Given the description of an element on the screen output the (x, y) to click on. 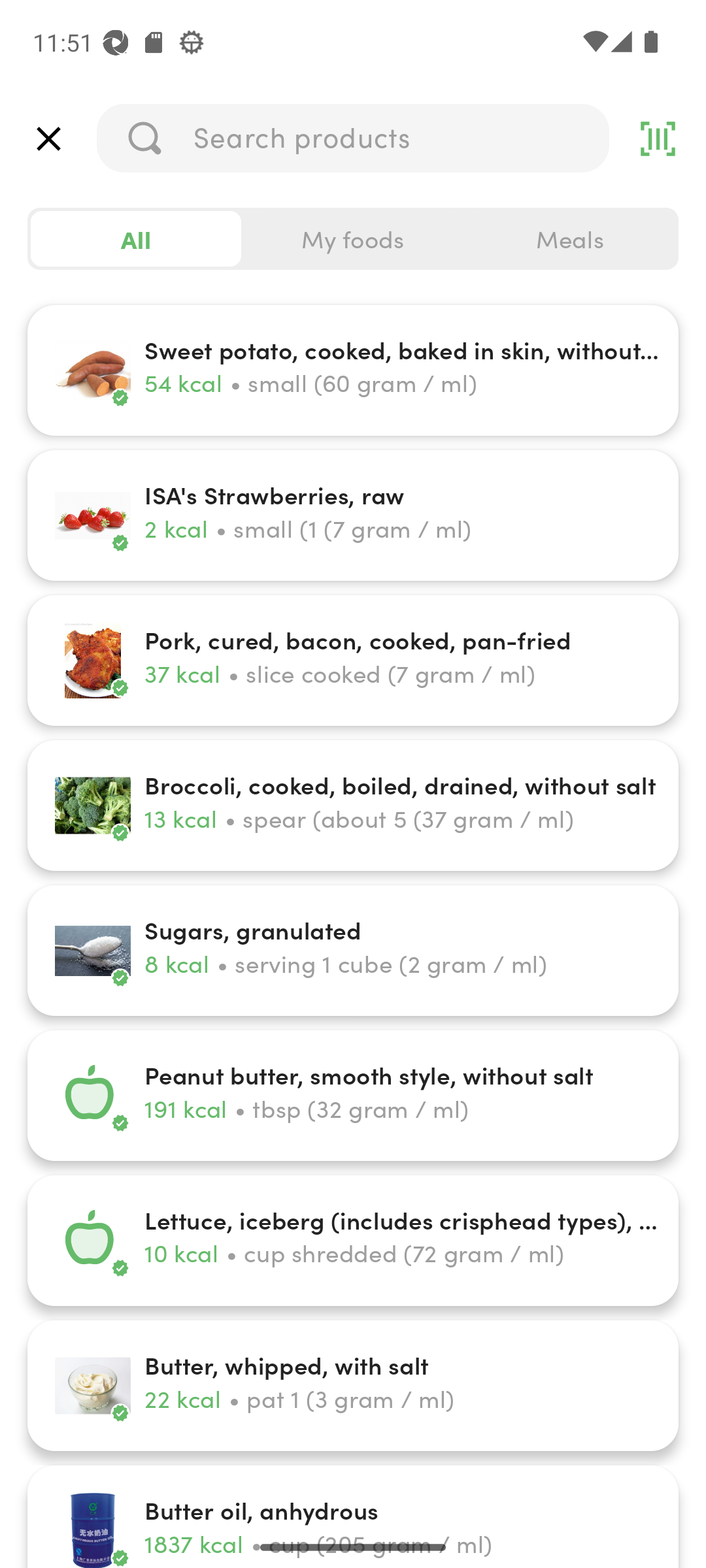
top_left_action (48, 138)
top_right_action (658, 138)
My foods (352, 238)
Meals (569, 238)
